Given the description of an element on the screen output the (x, y) to click on. 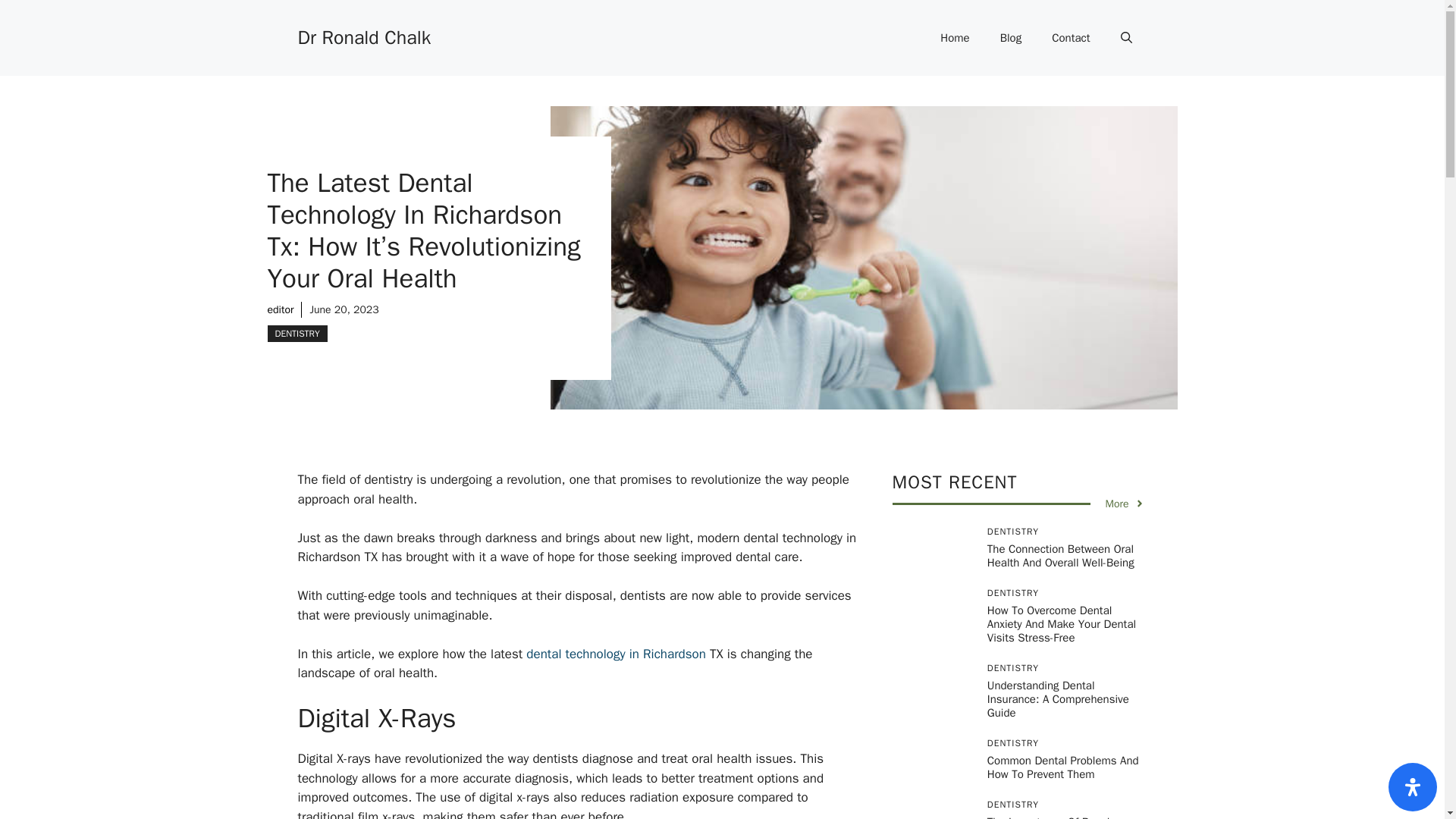
DENTISTRY (296, 332)
The Connection Between Oral Health And Overall Well-Being (1060, 555)
Home (954, 37)
Common Dental Problems And How To Prevent Them (1062, 767)
More (1124, 503)
Dr Ronald Chalk (363, 37)
Blog (1010, 37)
Understanding Dental Insurance: A Comprehensive Guide (1058, 698)
Accessibility (1413, 786)
dental technology in Richardson (615, 653)
editor (280, 309)
Contact (1070, 37)
